Given the description of an element on the screen output the (x, y) to click on. 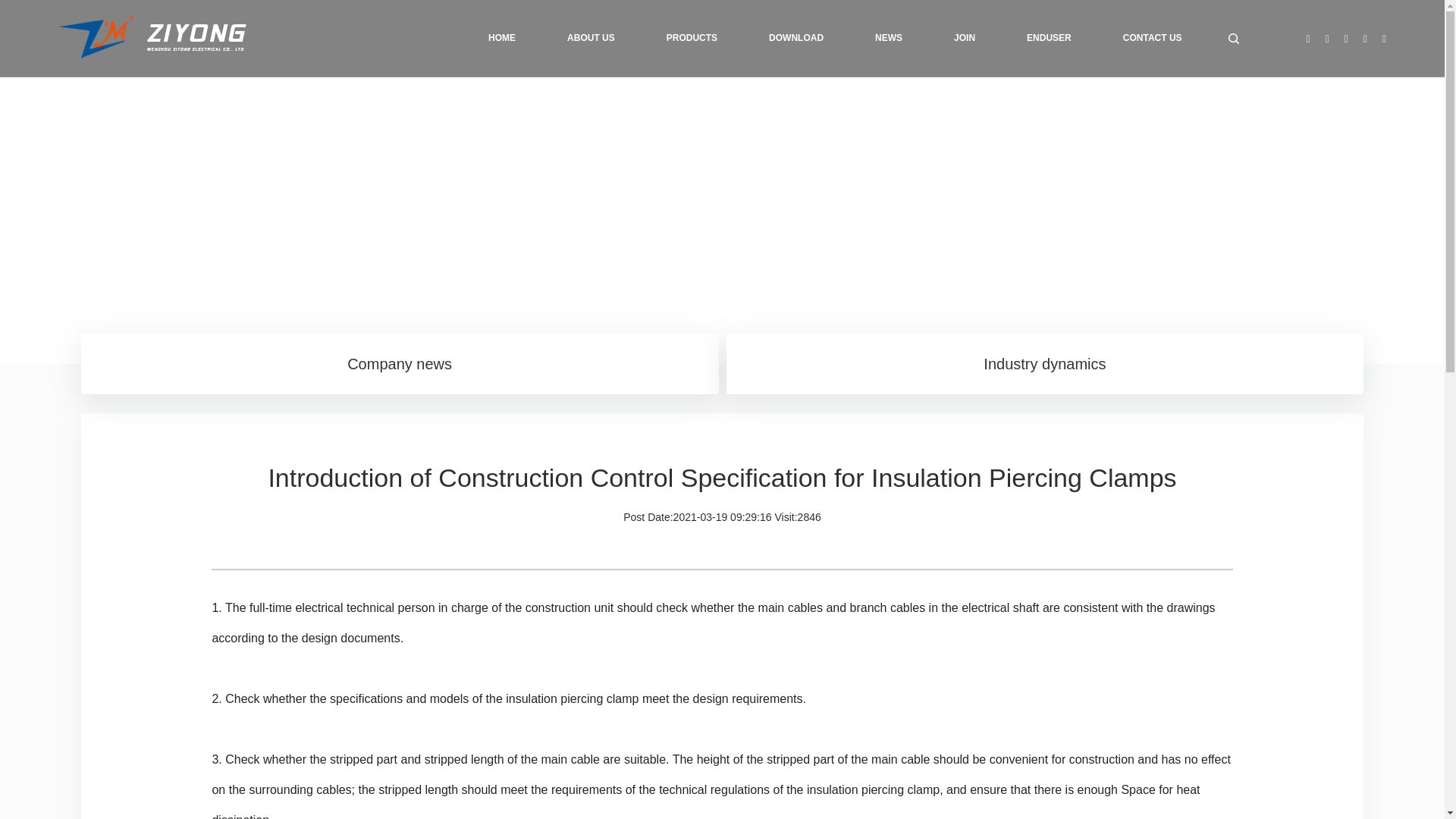
ABOUT US (590, 38)
PRODUCTS (691, 38)
Wenzhou Ziyong Electrical Co., Ltd. (152, 37)
JOIN (964, 38)
HOME (501, 38)
NEWS (888, 38)
Industry dynamics (1045, 363)
ENDUSER (1048, 38)
Company news (400, 363)
HOME (501, 38)
Industry dynamics (1045, 363)
Company news (400, 363)
DOWNLOAD (796, 38)
CONTACT US (1152, 38)
NEWS (888, 38)
